Given the description of an element on the screen output the (x, y) to click on. 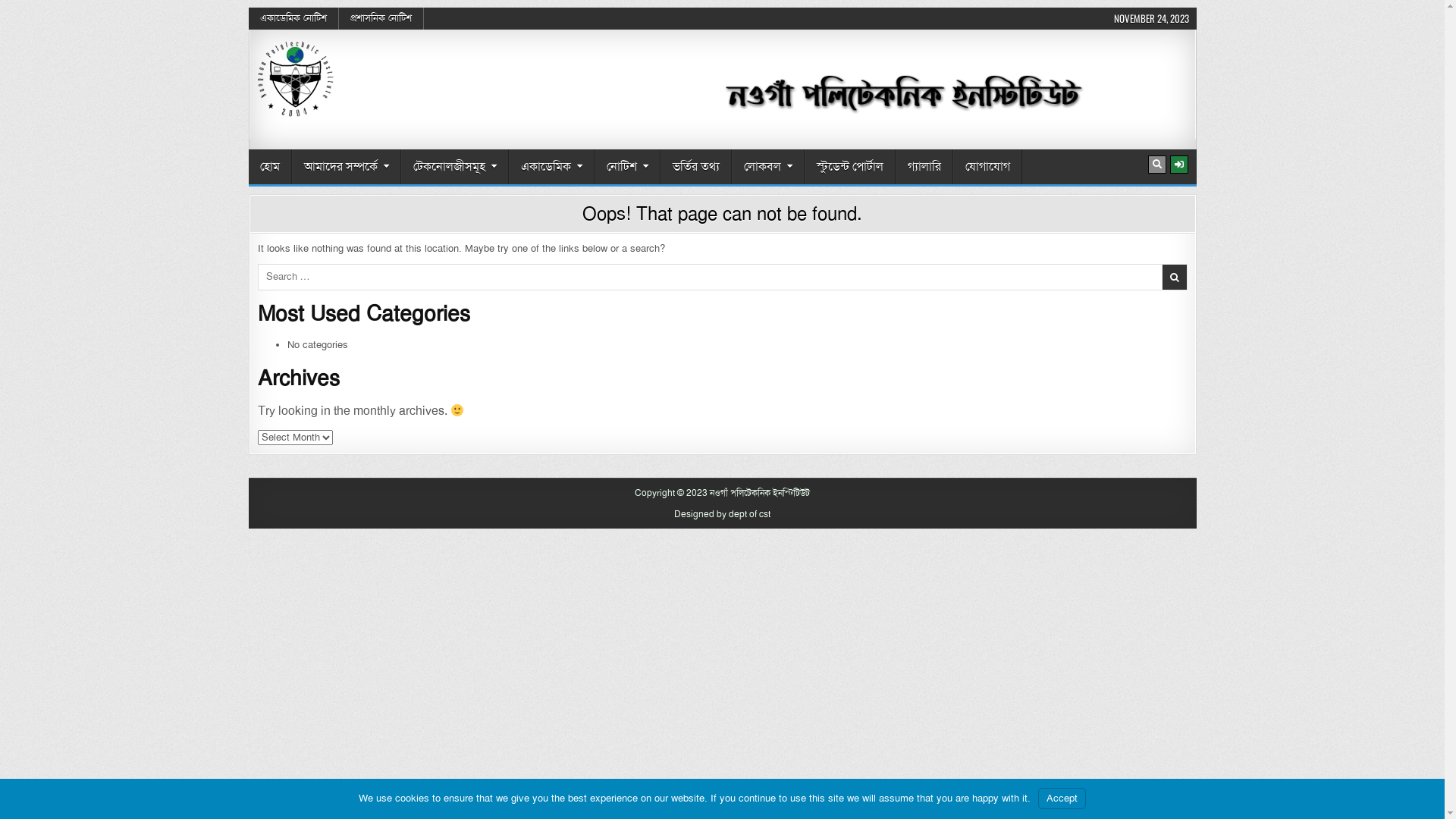
Accept Element type: text (1061, 798)
Login / Register Element type: hover (1178, 164)
Designed by dept of cst Element type: text (722, 514)
Search Element type: hover (1157, 164)
